Given the description of an element on the screen output the (x, y) to click on. 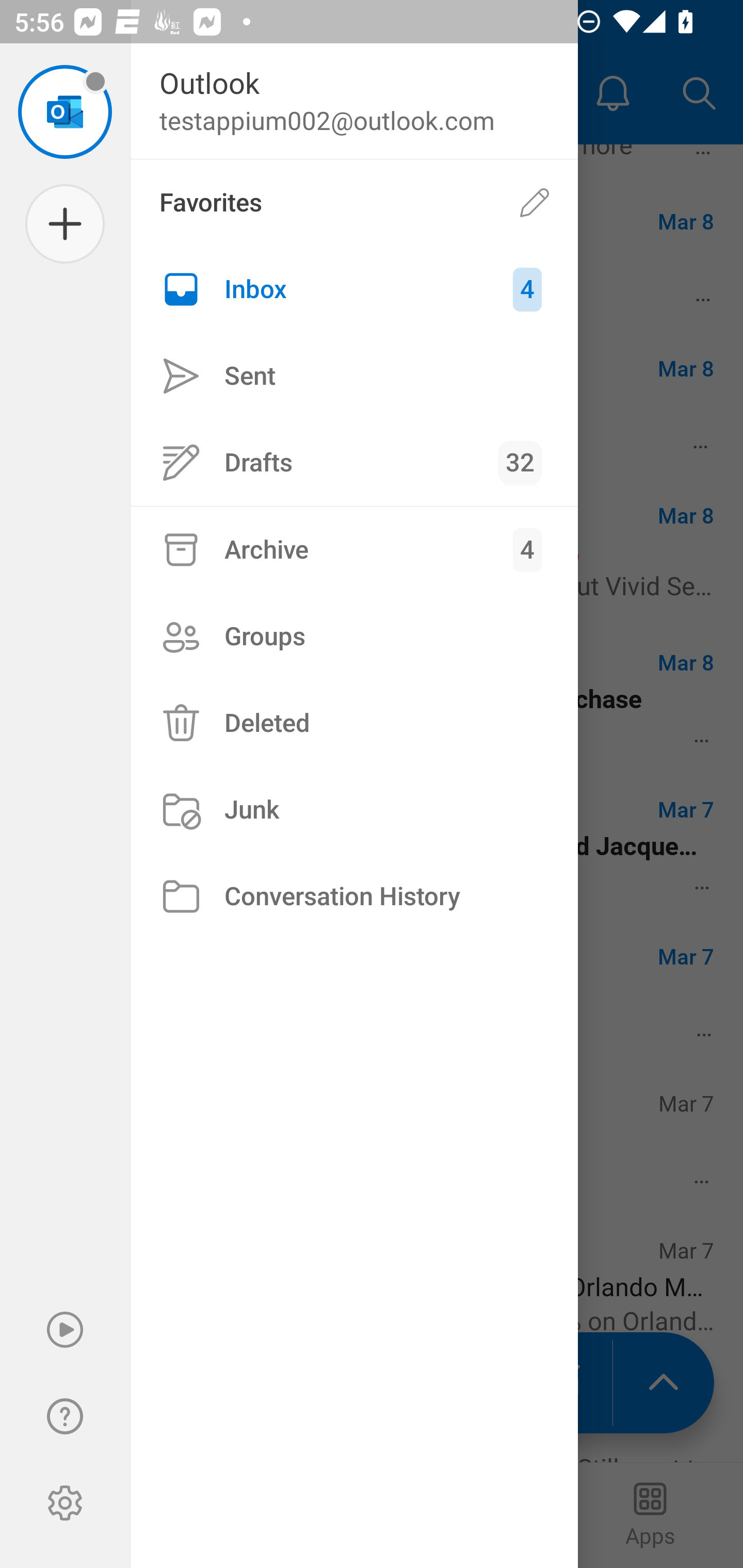
testappium002@outlook.com (64, 111)
Edit favorites (534, 202)
Add account (64, 224)
Inbox Inbox, 4 unread emails,Selected (354, 289)
Sent (354, 375)
Drafts Drafts, 32 unread emails (354, 462)
Archive Archive, 2 of 6, level 1, 4 unread emails (354, 549)
Groups Groups, 3 of 6, level 1 (354, 636)
Deleted Deleted, 4 of 6, level 1 (354, 723)
Junk Junk, 5 of 6, level 1 (354, 809)
Play My Emails (64, 1329)
Help (64, 1416)
Settings (64, 1502)
